Given the description of an element on the screen output the (x, y) to click on. 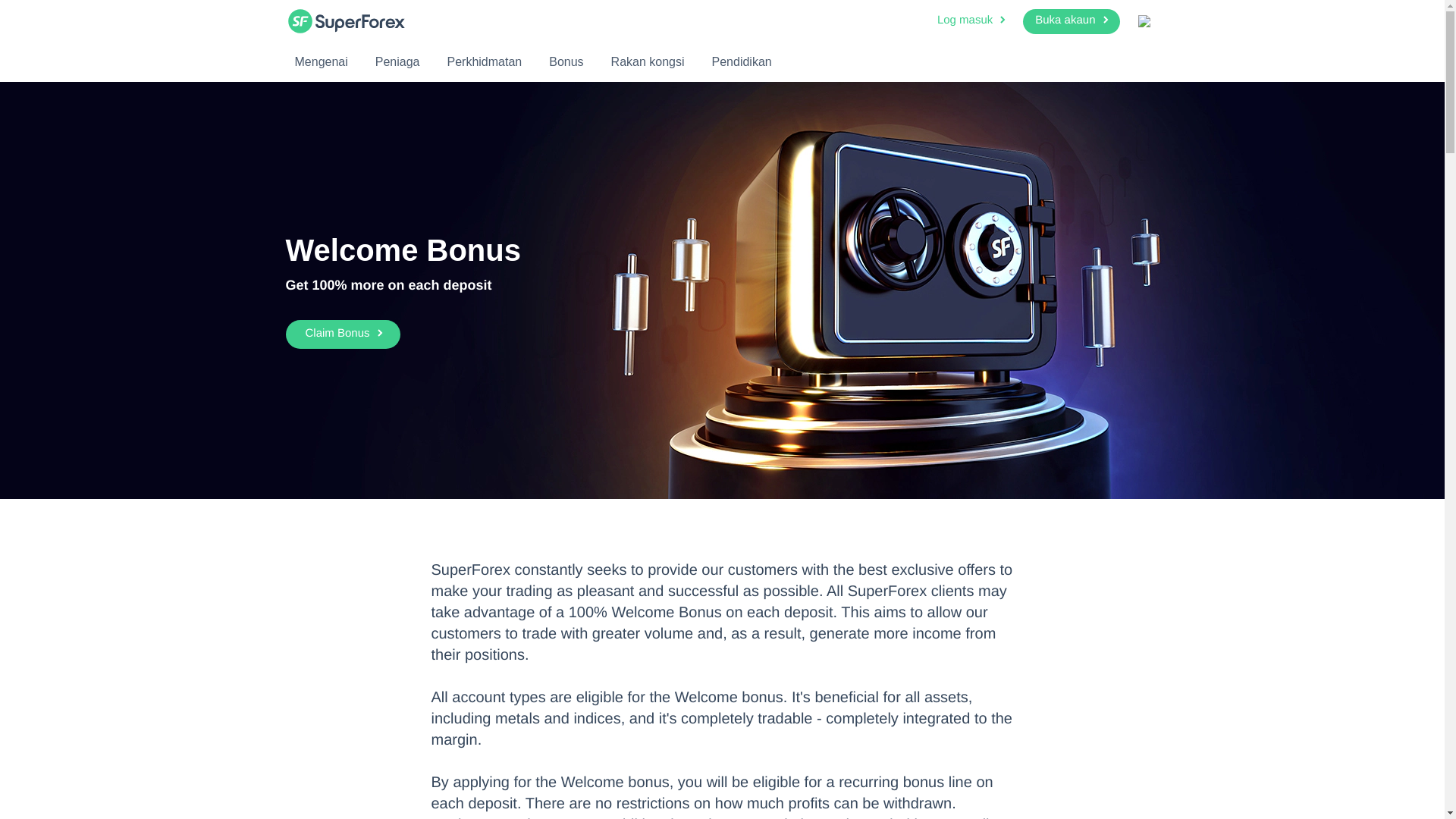
Perkhidmatan (484, 61)
Buka akaun (1071, 21)
Log masuk (972, 21)
Claim Bonus (341, 334)
Mengenai (320, 61)
Rakan kongsi (648, 61)
Peniaga (397, 61)
Pendidikan (741, 61)
Bonus (566, 61)
